Given the description of an element on the screen output the (x, y) to click on. 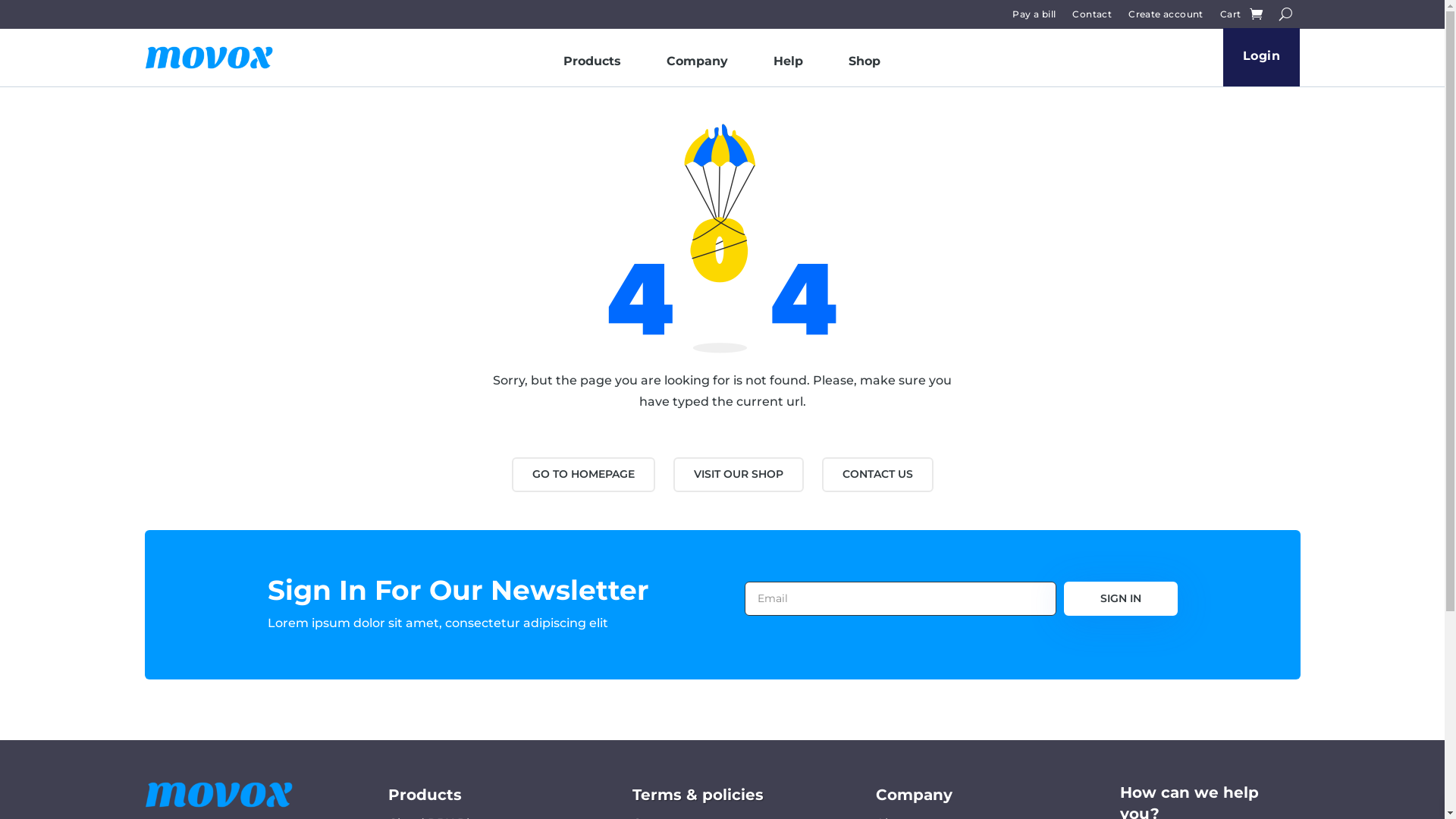
Login Element type: text (1261, 57)
Cart Element type: text (1230, 17)
Contact Element type: text (1091, 17)
Company Element type: text (696, 64)
Help Element type: text (788, 64)
GO TO HOMEPAGE Element type: text (582, 474)
Pay a bill Element type: text (1033, 17)
Create account Element type: text (1165, 17)
VISIT OUR SHOP Element type: text (738, 474)
CONTACT US Element type: text (877, 474)
404-image Element type: hover (722, 238)
movox_logo Element type: hover (208, 57)
Shop Element type: text (864, 64)
SIGN IN Element type: text (1119, 598)
Products Element type: text (592, 64)
movox_logo Element type: hover (217, 793)
